Given the description of an element on the screen output the (x, y) to click on. 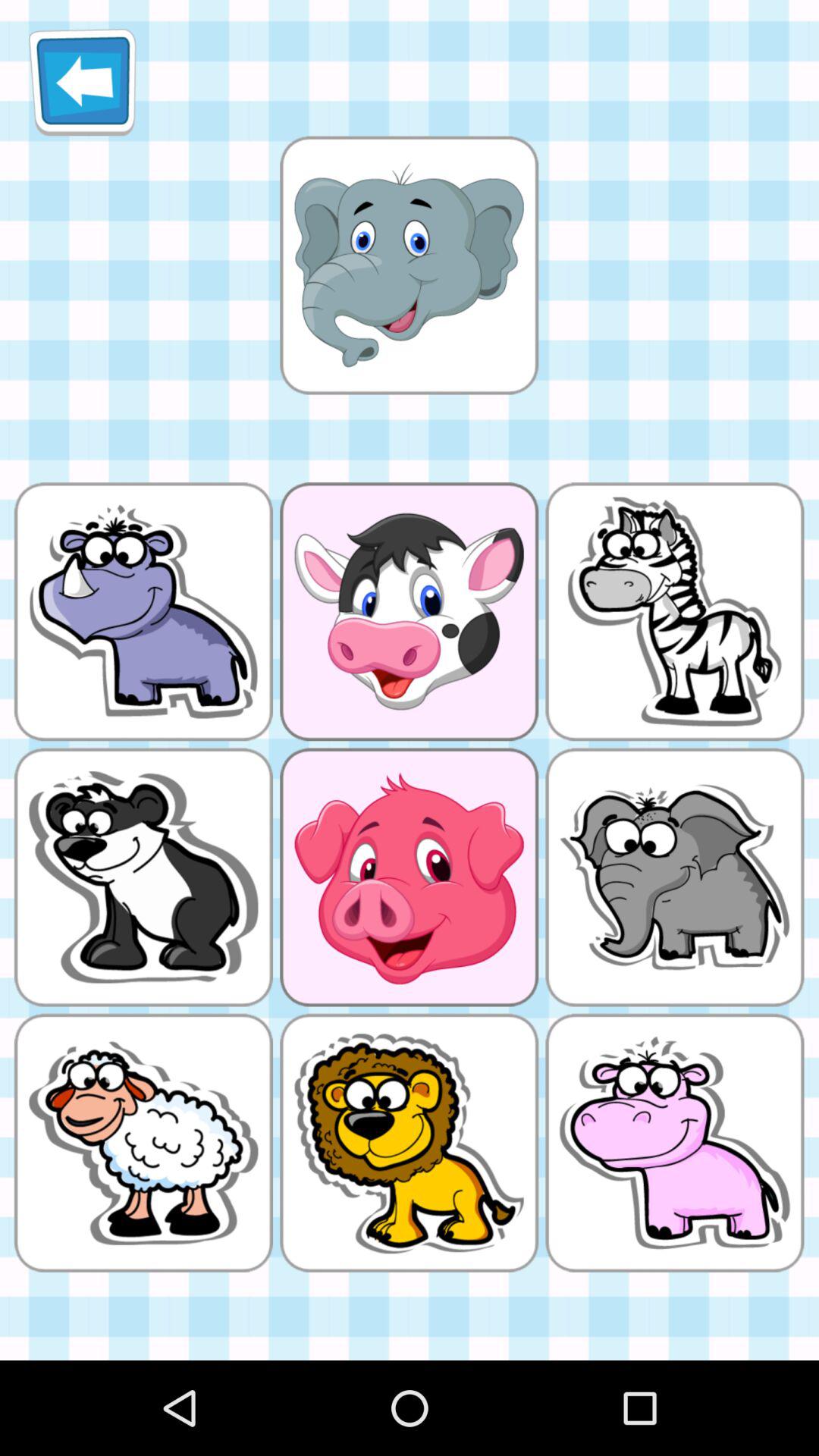
deselect image (409, 264)
